Given the description of an element on the screen output the (x, y) to click on. 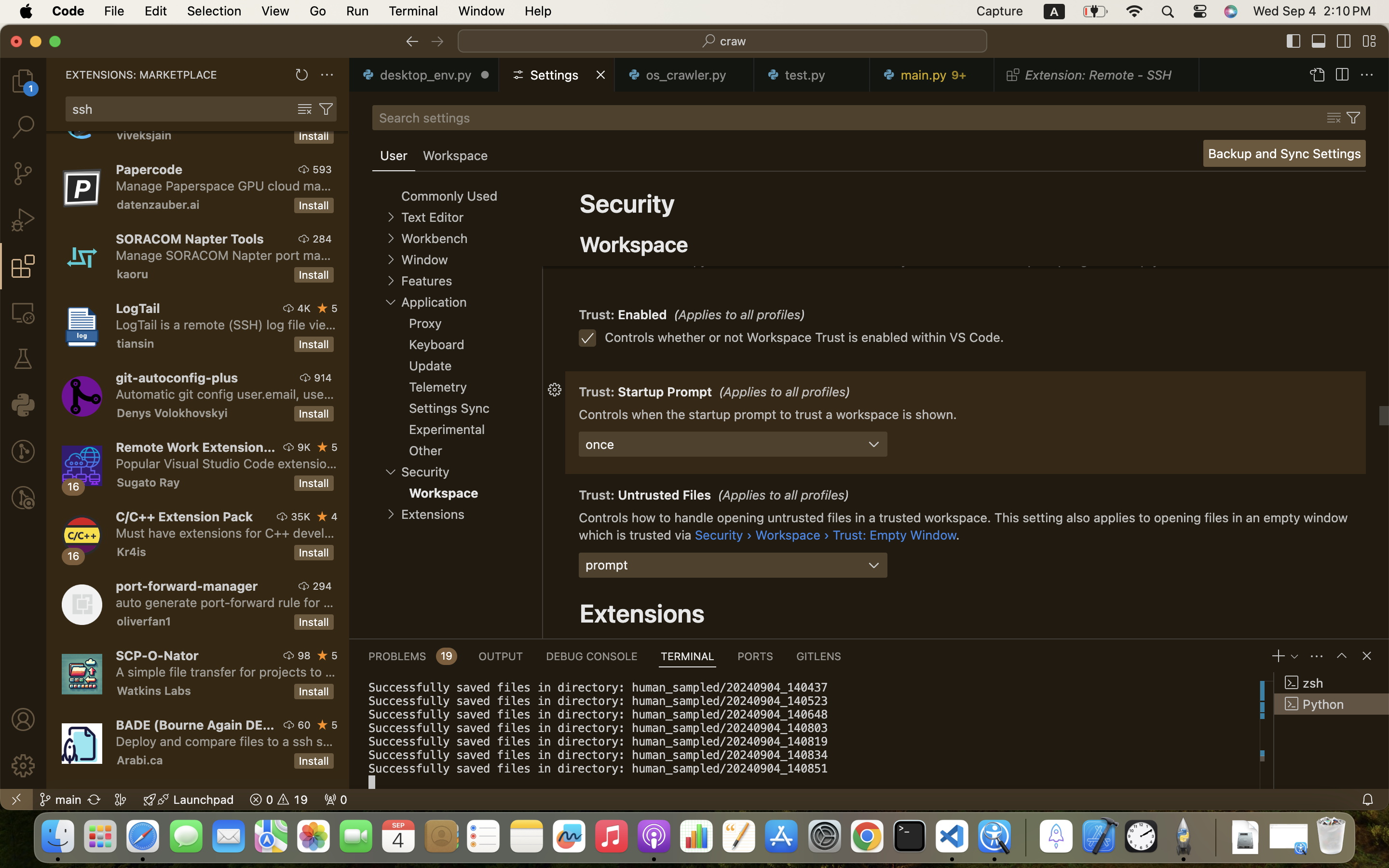
Untrusted Files Element type: AXStaticText (664, 495)
Trust: Element type: AXStaticText (598, 220)
0 Extension: Remote - SSH   Element type: AXRadioButton (1096, 74)
Commonly Used Element type: AXStaticText (449, 196)
Telemetry Element type: AXStaticText (437, 386)
